Given the description of an element on the screen output the (x, y) to click on. 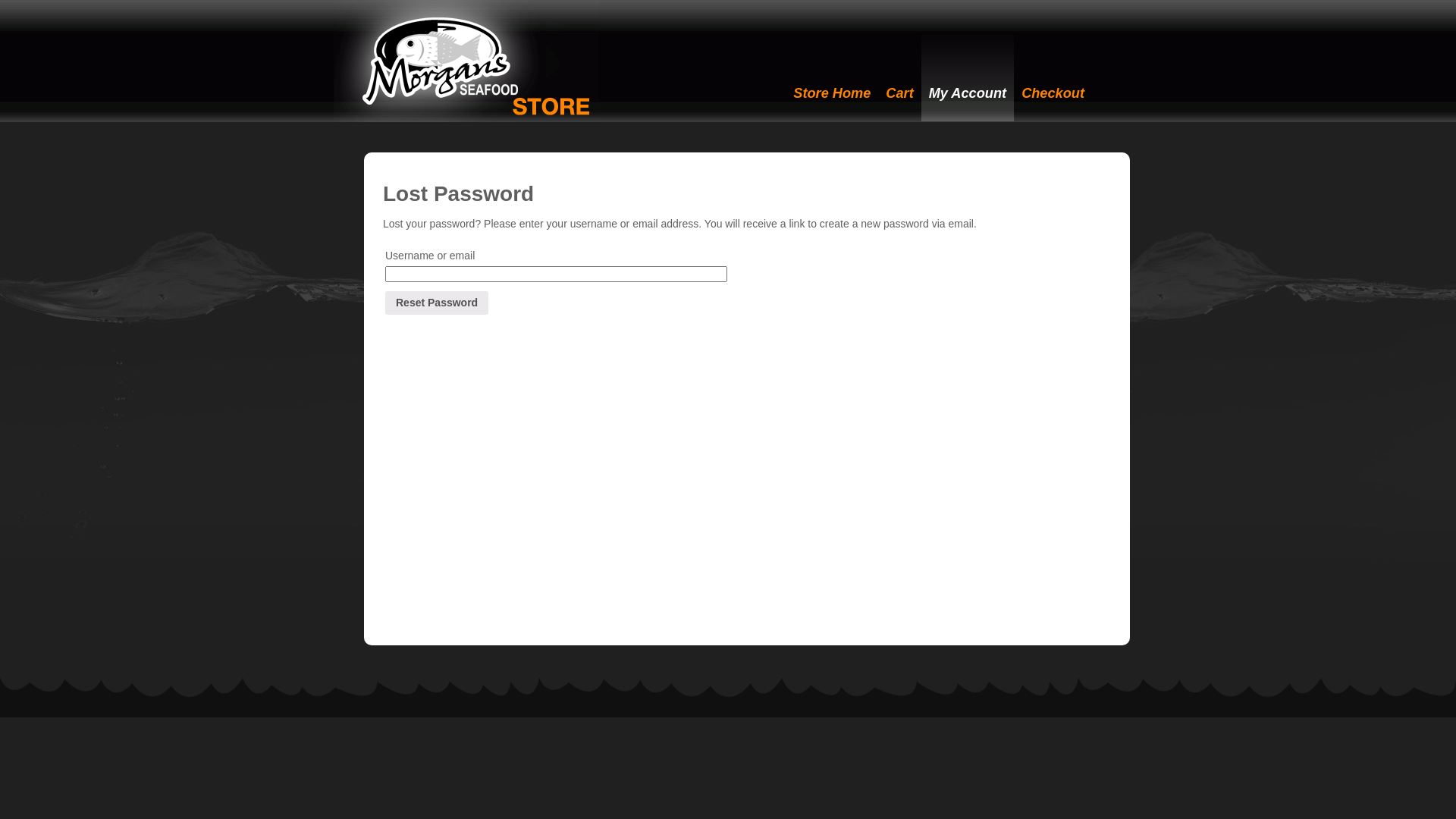
Reset Password Element type: text (436, 302)
Cart Element type: text (899, 73)
My Account Element type: text (967, 73)
Checkout Element type: text (1052, 73)
Store Home Element type: text (831, 73)
